Given the description of an element on the screen output the (x, y) to click on. 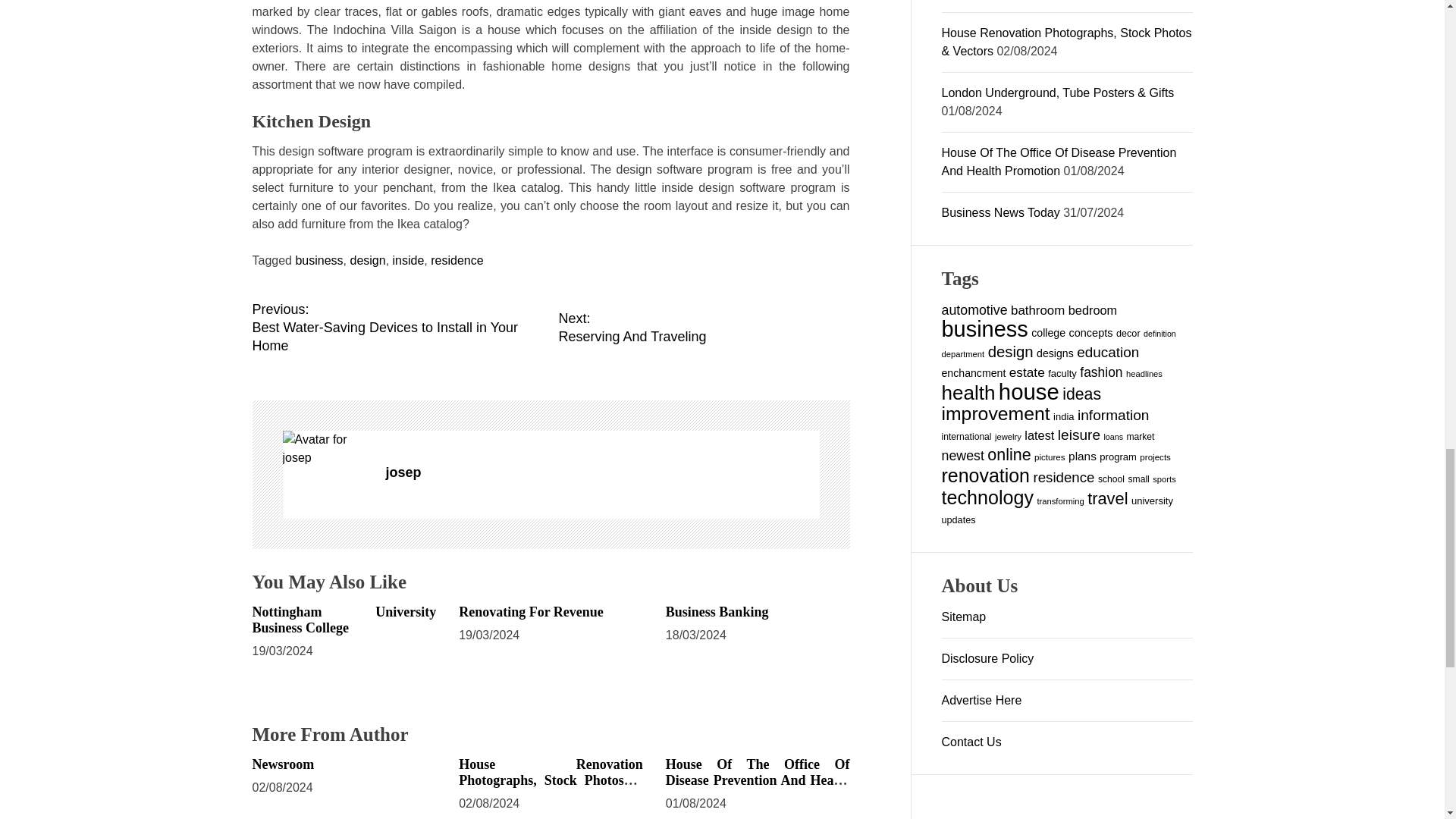
Renovating For Revenue (531, 611)
inside (409, 259)
josep (325, 448)
design (367, 259)
josep (601, 472)
Nottingham University Business College (343, 619)
residence (456, 259)
Newsroom (282, 764)
business (318, 259)
